Given the description of an element on the screen output the (x, y) to click on. 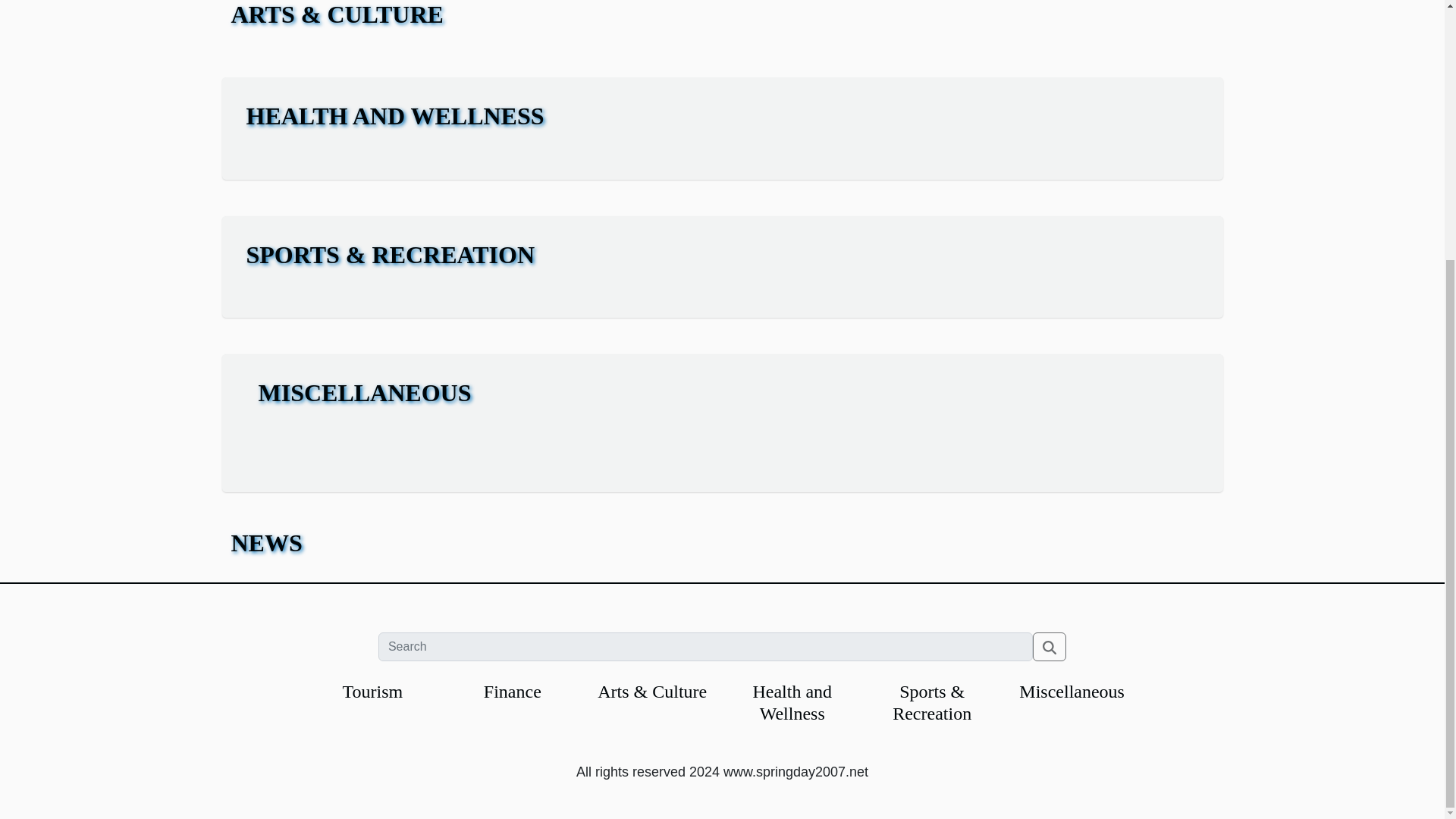
Finance (512, 691)
Miscellaneous (1071, 691)
Health and Wellness (791, 702)
Tourism (372, 691)
Health and Wellness (791, 702)
Tourism (372, 691)
Finance (512, 691)
Miscellaneous (1071, 691)
